Given the description of an element on the screen output the (x, y) to click on. 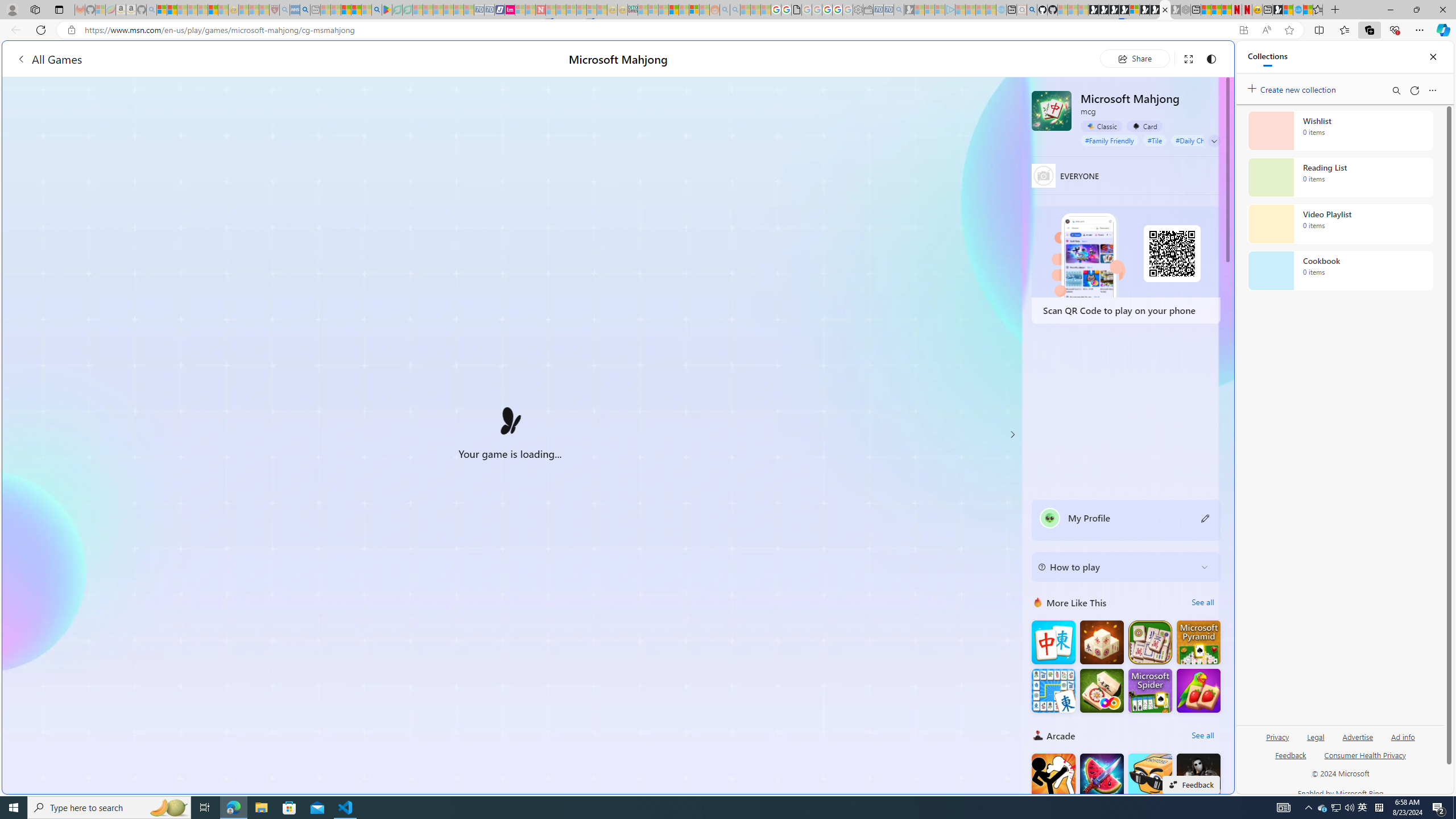
Card (1143, 125)
Microsoft Mahjong (1051, 110)
Wishlist collection, 0 items (1339, 130)
Mahjong Connect Deluxe (1053, 690)
Stickman Fighter : Mega Brawl (1053, 775)
